Given the description of an element on the screen output the (x, y) to click on. 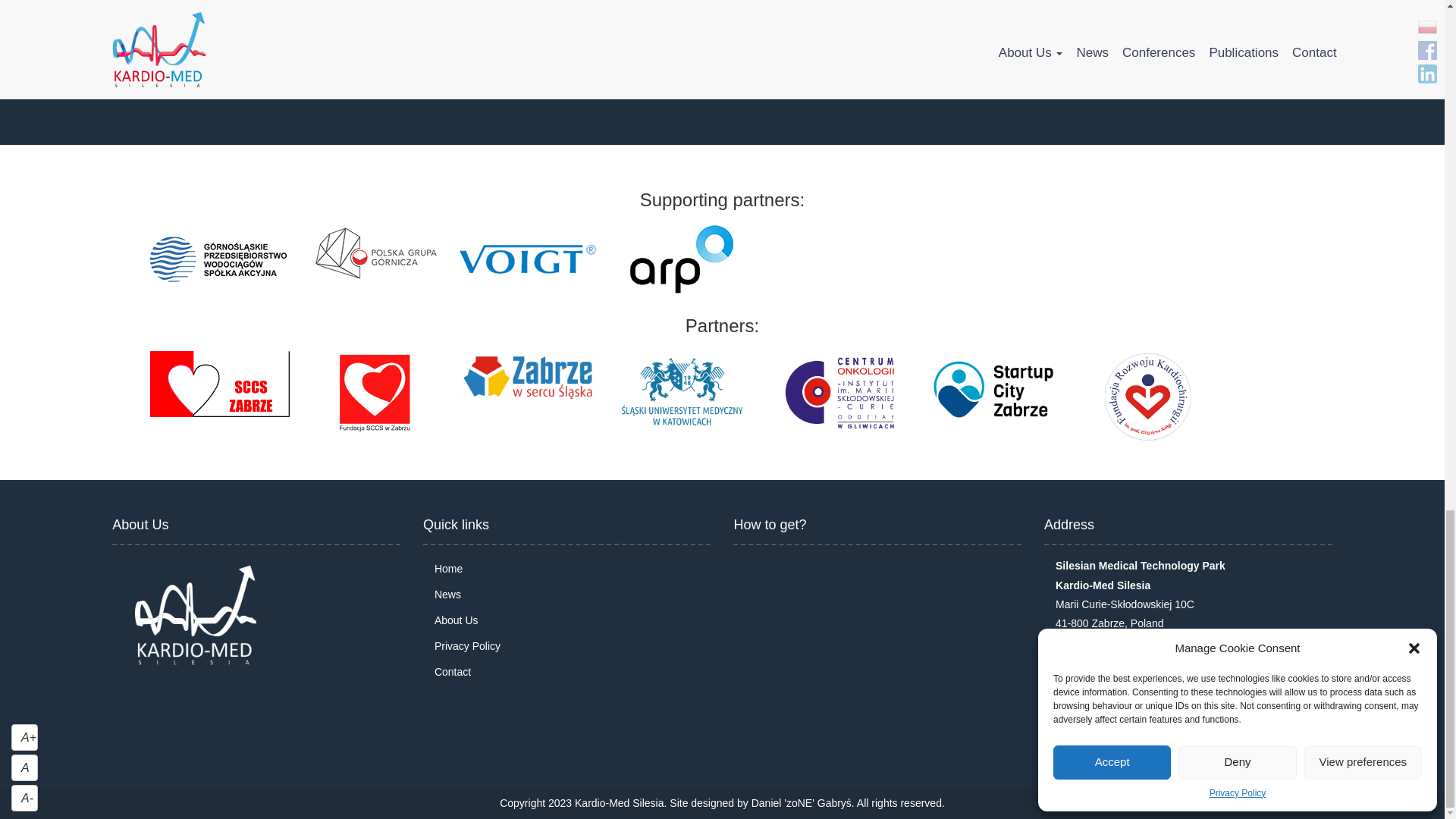
1 (116, 29)
Privacy Policy (386, 5)
Terms of Service (481, 5)
Numer telefonu (1066, 661)
here (427, 68)
